Given the description of an element on the screen output the (x, y) to click on. 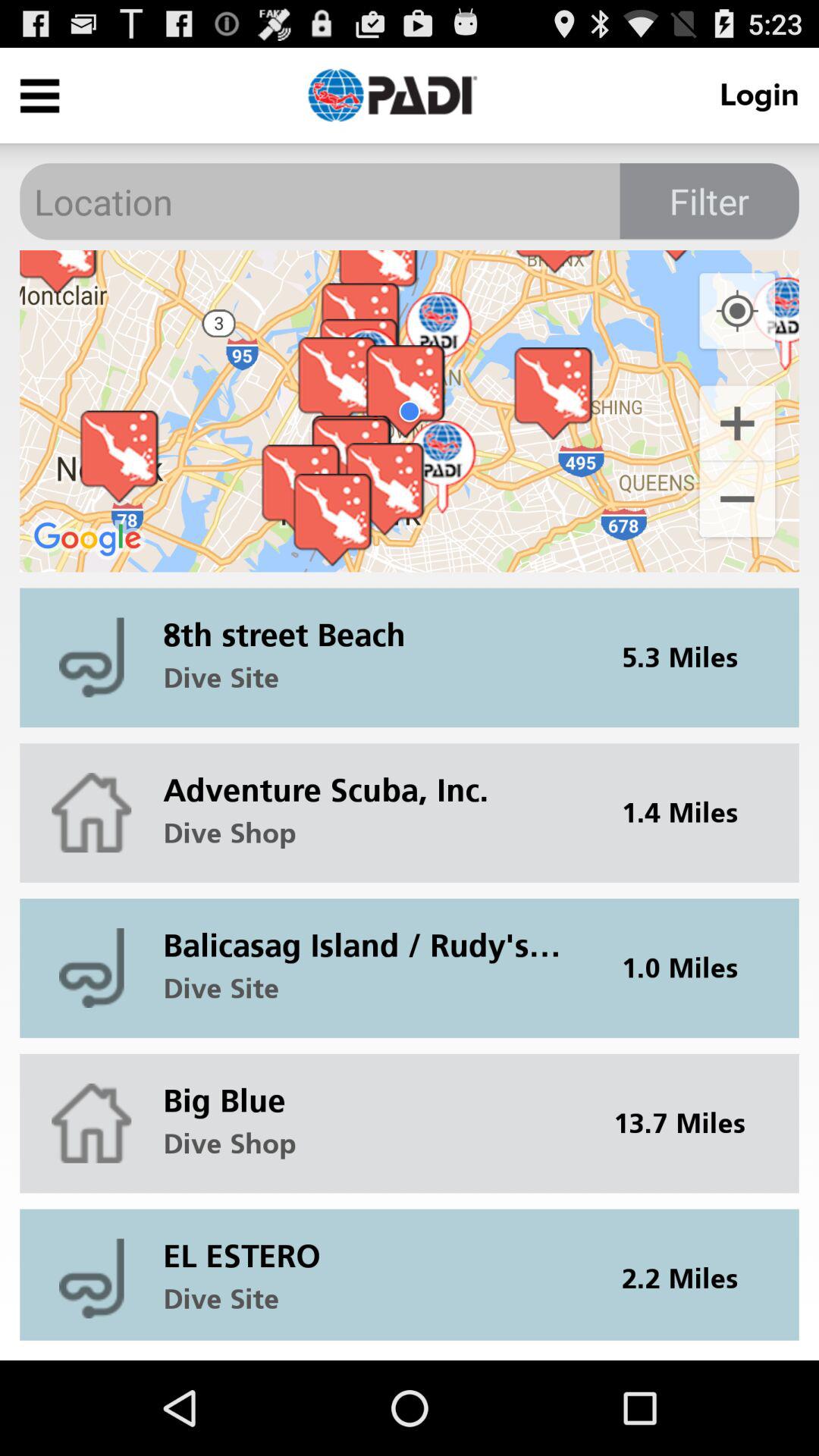
select icon next to 8th street beach item (689, 657)
